Given the description of an element on the screen output the (x, y) to click on. 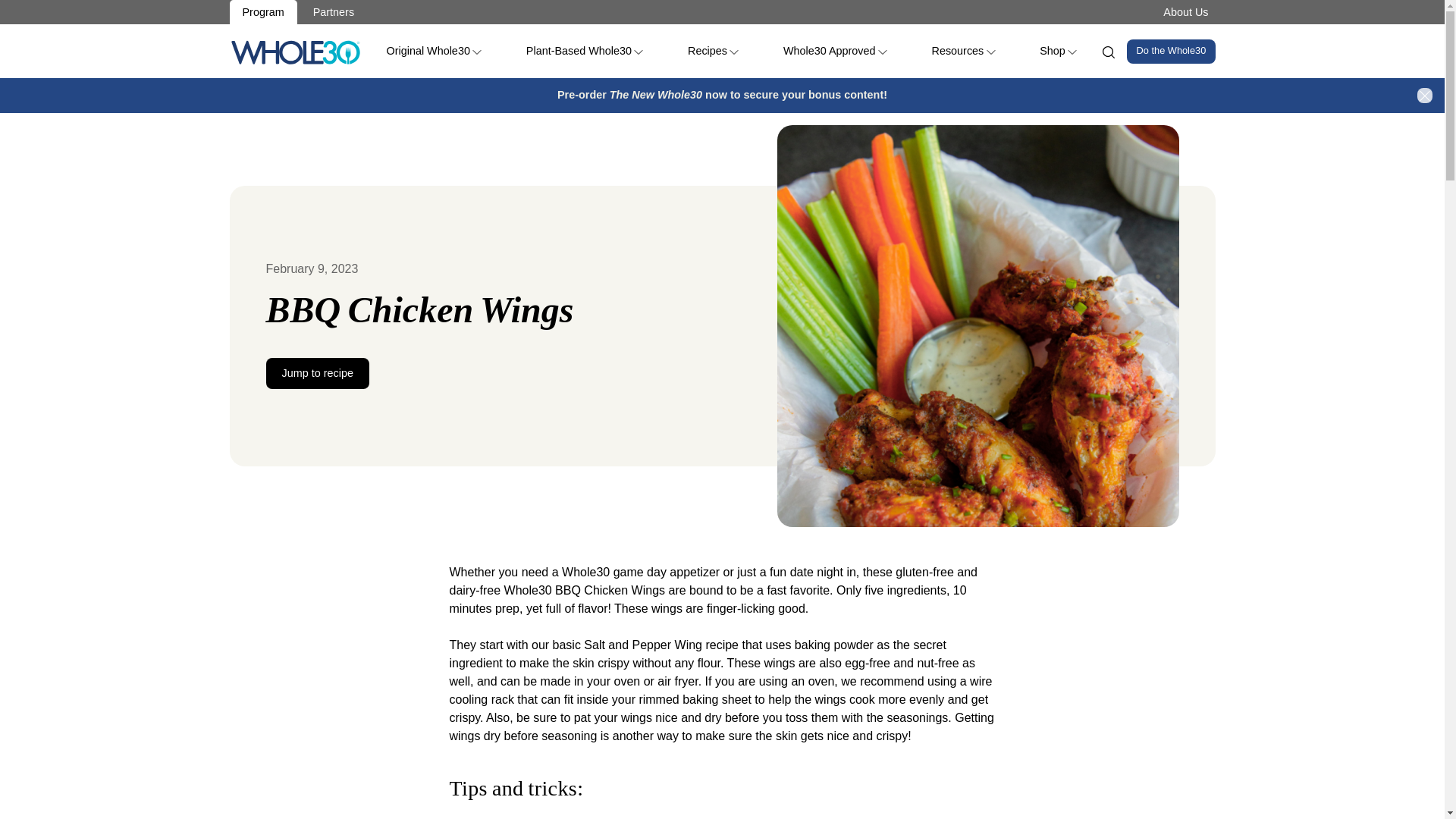
Partners (332, 12)
R (294, 51)
Program (262, 12)
About Us (1184, 11)
R (294, 51)
